Given the description of an element on the screen output the (x, y) to click on. 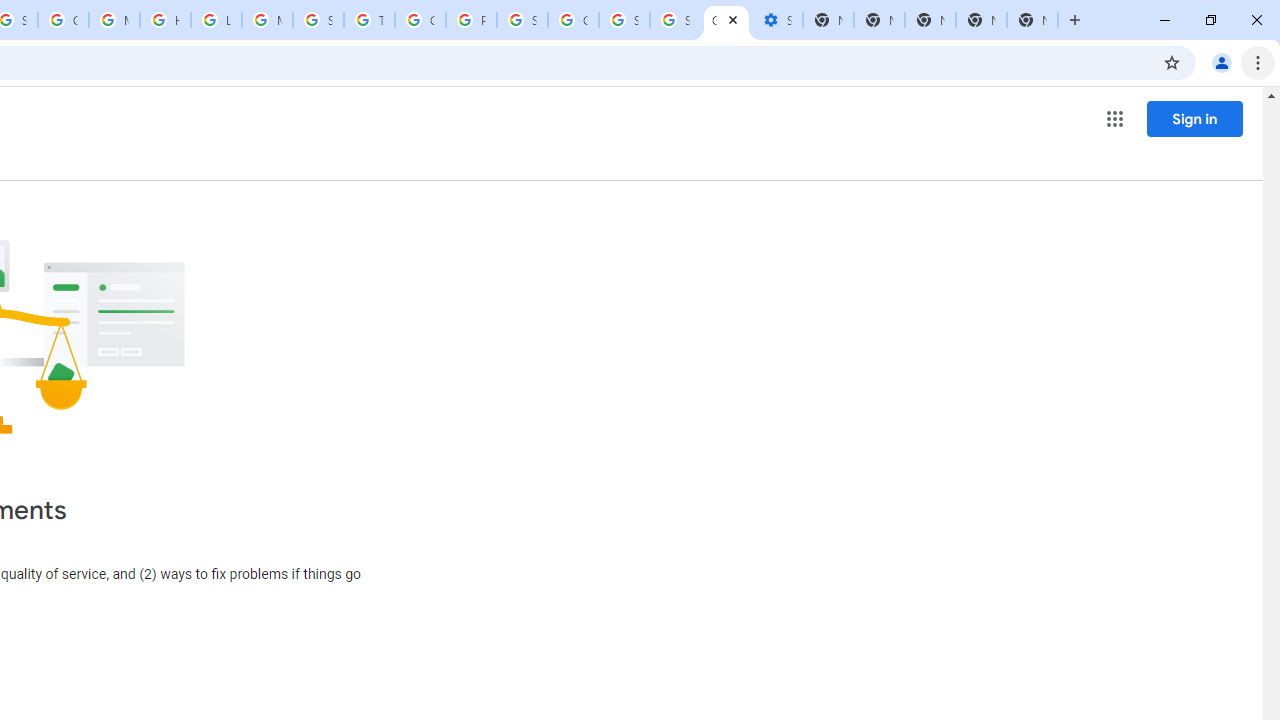
Sign in - Google Accounts (521, 20)
Sign in - Google Accounts (624, 20)
New Tab (1032, 20)
Sign in - Google Accounts (675, 20)
Search our Doodle Library Collection - Google Doodles (318, 20)
